Given the description of an element on the screen output the (x, y) to click on. 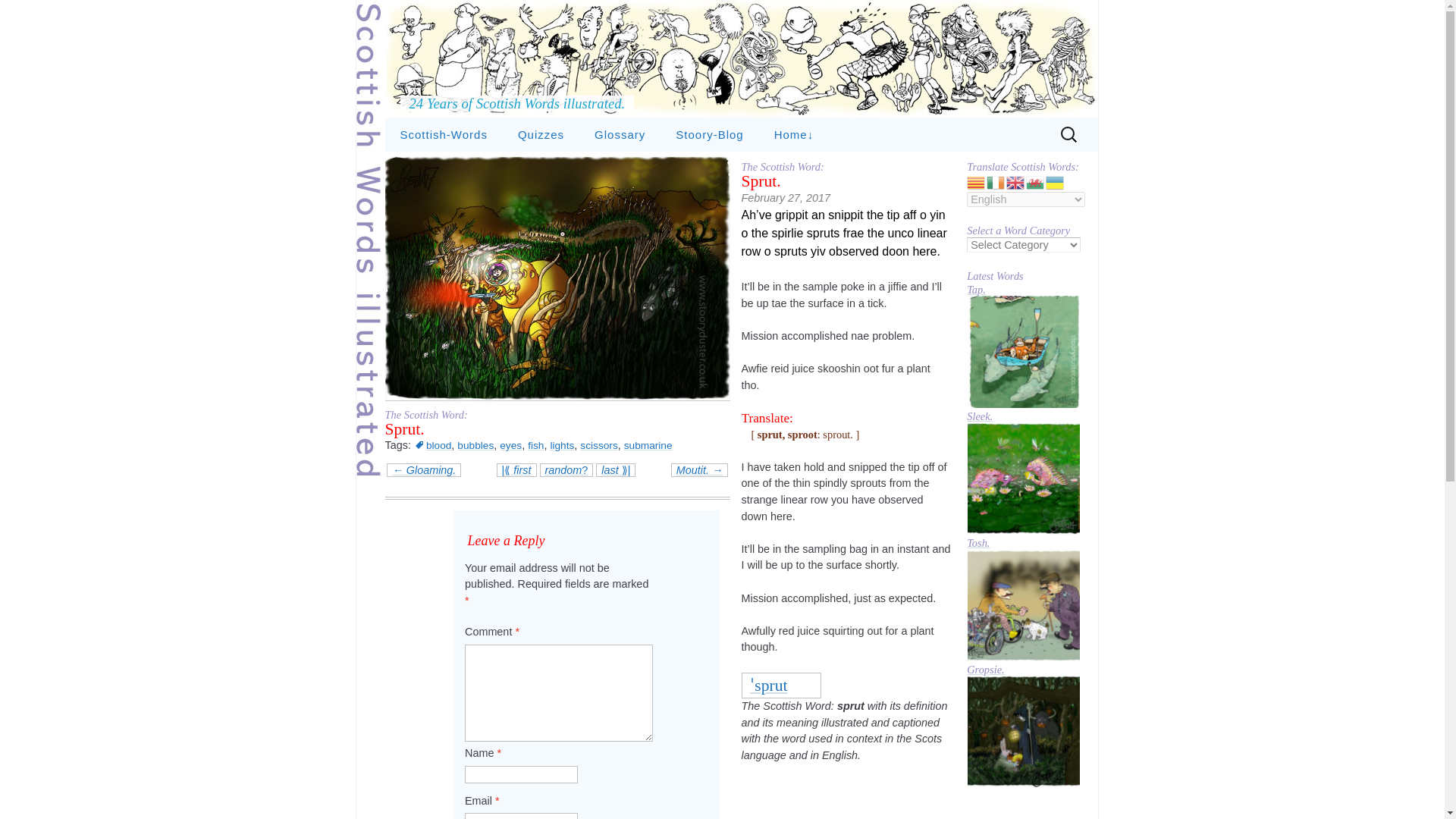
Scottish Words Glossary (620, 134)
Permanent Link to Tap. (1023, 350)
Quizzes (540, 134)
submarine (648, 445)
blood (432, 445)
bubbles (475, 445)
Shop (834, 168)
English (1016, 182)
fish (535, 445)
Ukrainian (1055, 182)
